Given the description of an element on the screen output the (x, y) to click on. 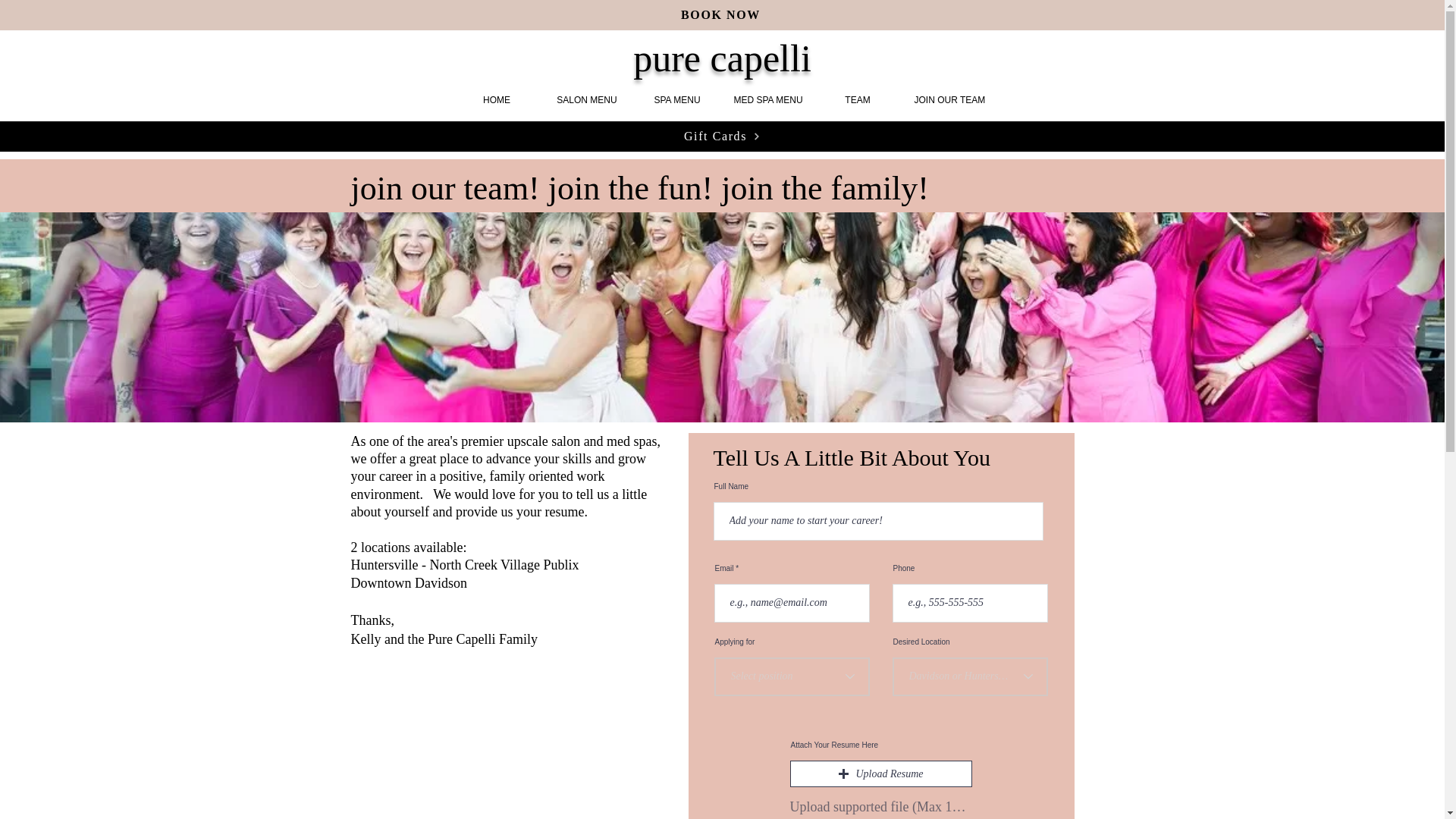
JOIN OUR TEAM (947, 99)
MED SPA MENU (767, 99)
Gift Cards (721, 136)
BOOK NOW (722, 15)
pure capelli (721, 57)
TEAM (857, 99)
HOME (496, 99)
SALON MENU (586, 99)
SPA MENU (676, 99)
